Given the description of an element on the screen output the (x, y) to click on. 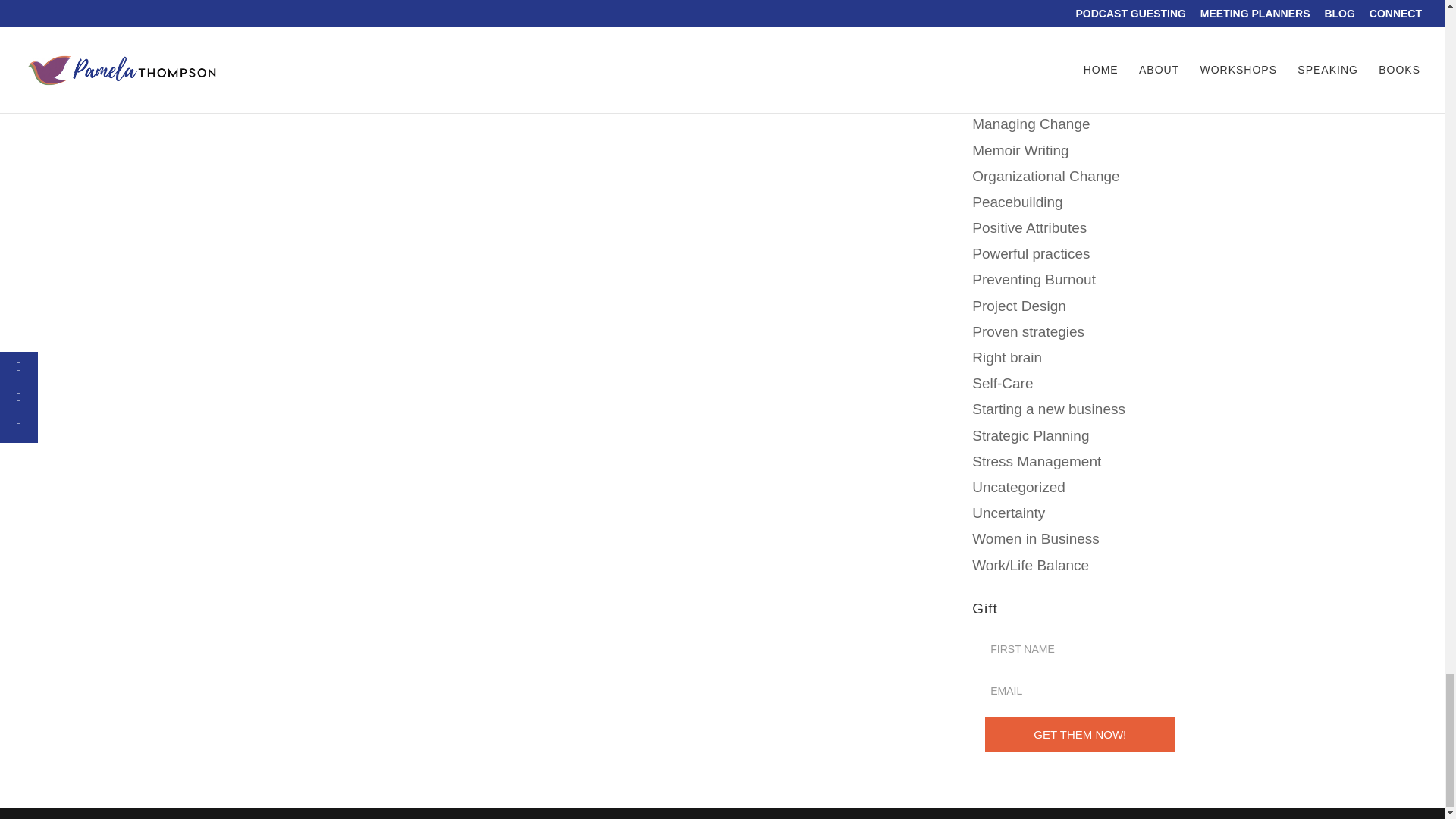
GET THEM NOW! (1079, 734)
